Given the description of an element on the screen output the (x, y) to click on. 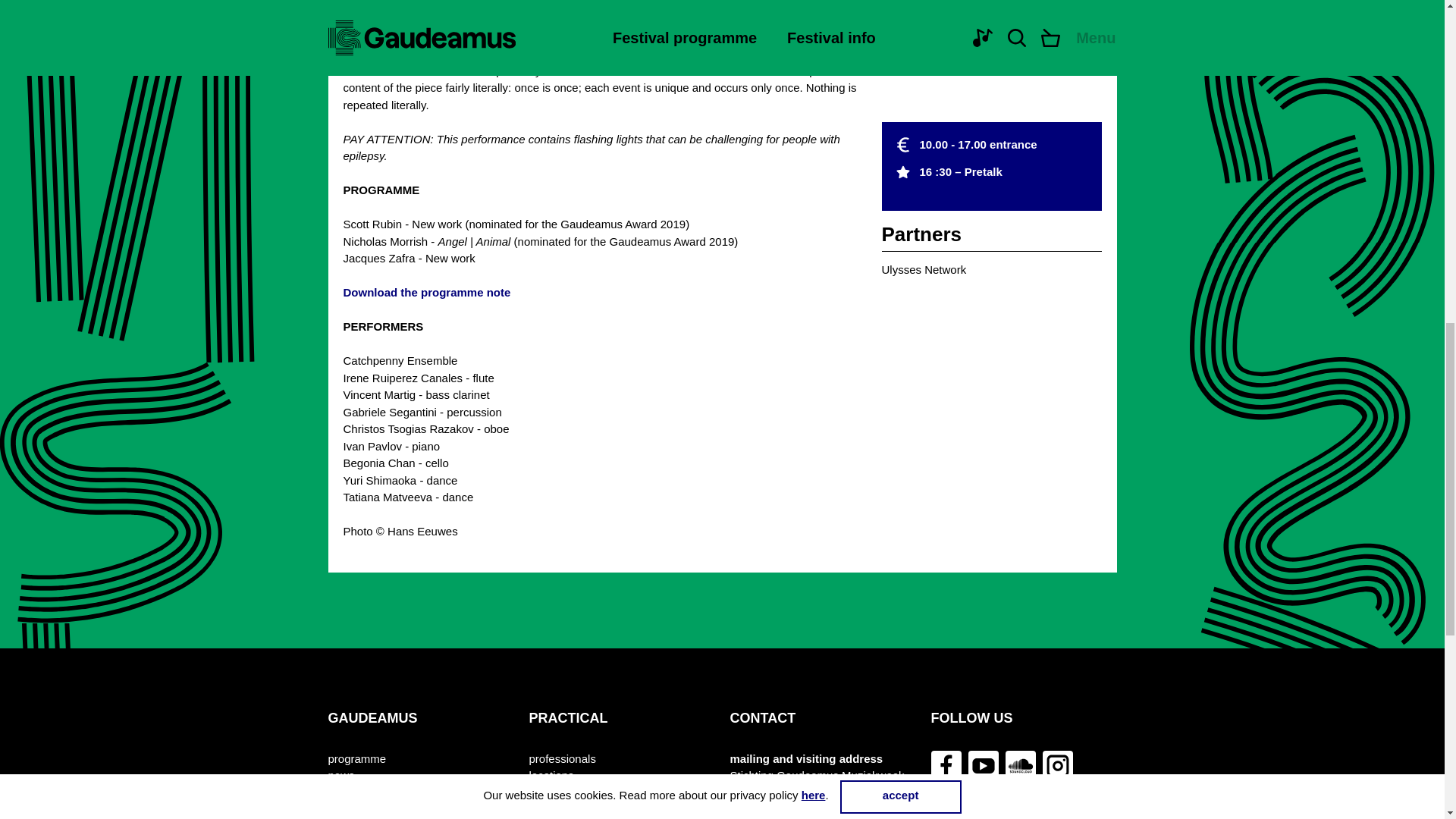
Gaudeamus on Youtube (982, 765)
hall of fame (357, 810)
programme (356, 759)
professionals (562, 759)
Gaudeamus on Instagram (1056, 765)
talent development (375, 793)
Gaudeamus on Facebook (946, 765)
news (340, 775)
Gaudeamus on Soundcloud (1020, 765)
Download the programme note (426, 291)
